Given the description of an element on the screen output the (x, y) to click on. 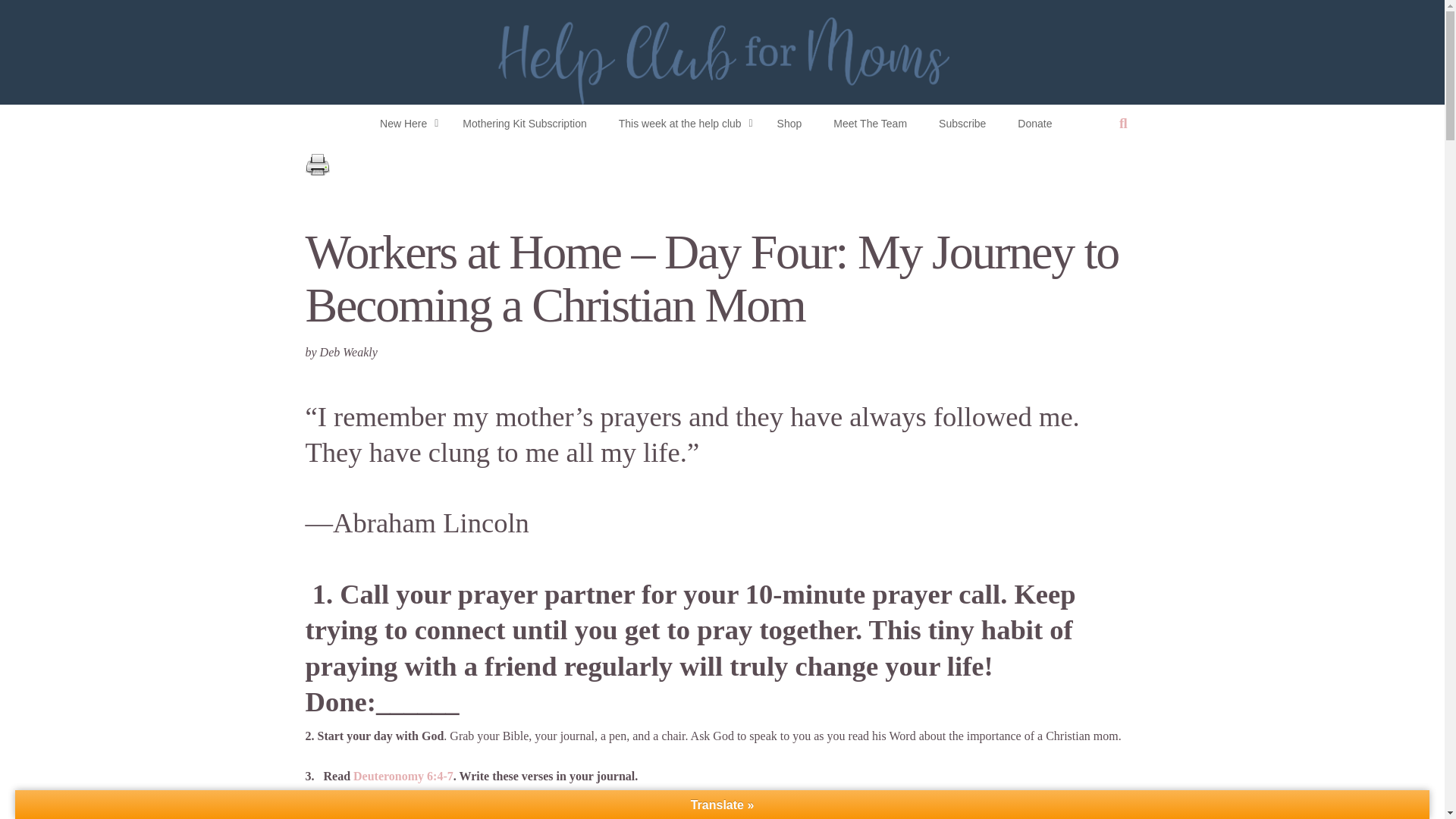
Mothering Kit Subscription (523, 123)
Deuteronomy 6:4-7 (402, 775)
Shop (788, 123)
New Here (405, 123)
Meet The Team (869, 123)
Donate (1035, 123)
This week at the help club (682, 123)
Subscribe (962, 123)
